Given the description of an element on the screen output the (x, y) to click on. 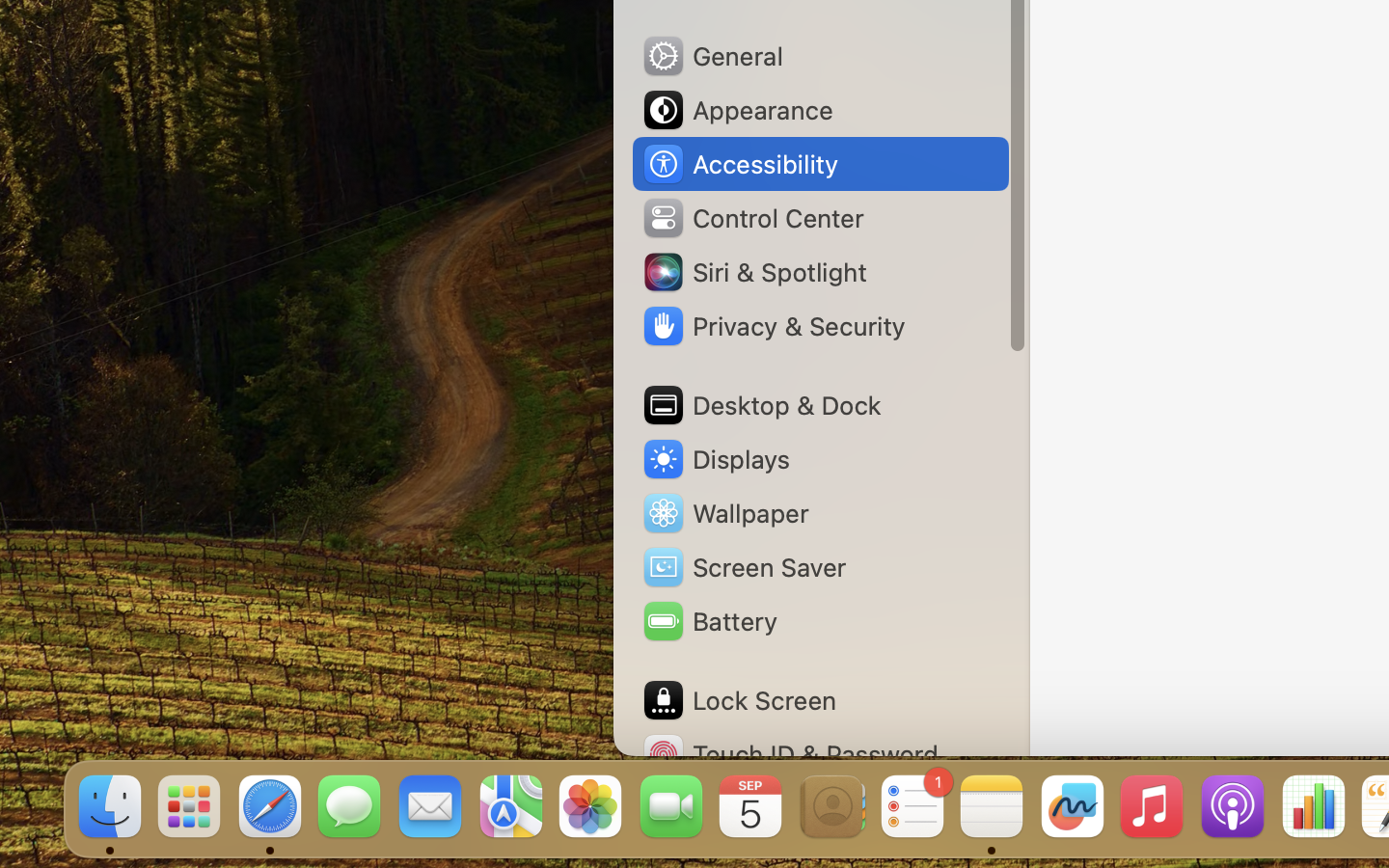
Desktop & Dock Element type: AXStaticText (760, 404)
General Element type: AXStaticText (711, 55)
Privacy & Security Element type: AXStaticText (772, 325)
Displays Element type: AXStaticText (715, 458)
Appearance Element type: AXStaticText (736, 109)
